Given the description of an element on the screen output the (x, y) to click on. 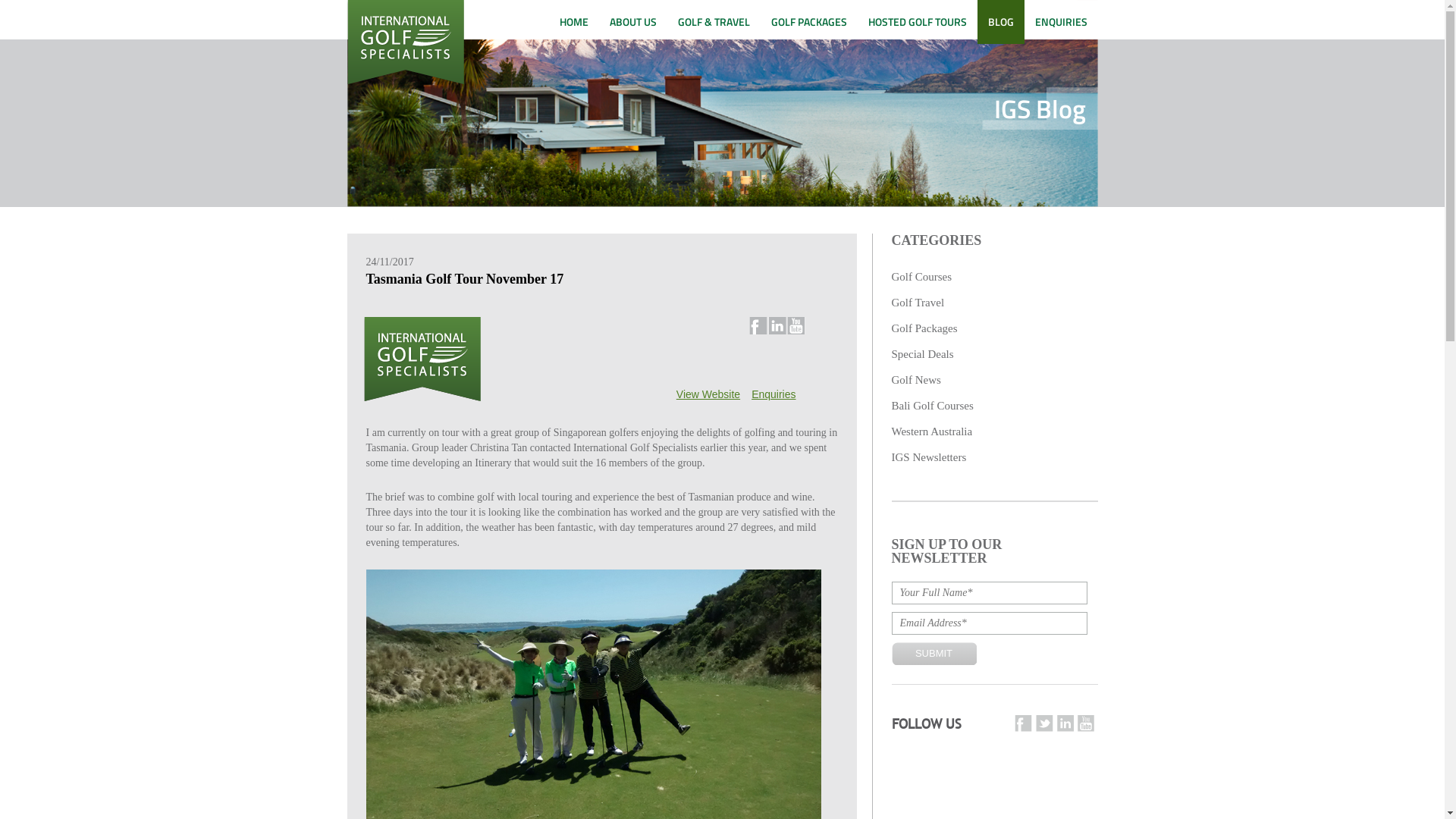
Facebook Element type: hover (758, 325)
GOLF PACKAGES Element type: text (807, 21)
Western Australia Element type: text (931, 431)
HOME Element type: text (574, 21)
Golf Courses Element type: text (921, 276)
IGS Element type: hover (423, 393)
Bali Golf Courses Element type: text (932, 405)
BLOG Element type: text (999, 21)
IGS Element type: hover (405, 79)
GOLF & TRAVEL Element type: text (713, 21)
SUBMIT Element type: text (933, 653)
IGS Newsletters Element type: text (928, 457)
youtube Element type: hover (796, 325)
Golf News Element type: text (916, 379)
IGS logo Element type: hover (422, 358)
linkedin Element type: hover (1065, 723)
Facebook Element type: hover (1023, 723)
linkedin Element type: hover (776, 325)
Special Deals Element type: text (922, 354)
IGS logo Element type: hover (405, 42)
youtube Element type: hover (1084, 723)
ENQUIRIES Element type: text (1060, 21)
View Website Element type: text (708, 394)
twitter Element type: hover (1044, 723)
Golf Packages Element type: text (924, 328)
Enquiries Element type: text (773, 394)
Golf Travel Element type: text (917, 302)
HOSTED GOLF TOURS Element type: text (916, 21)
ABOUT US Element type: text (633, 21)
Tasmania Golf Tour November 17 Element type: text (464, 279)
